Given the description of an element on the screen output the (x, y) to click on. 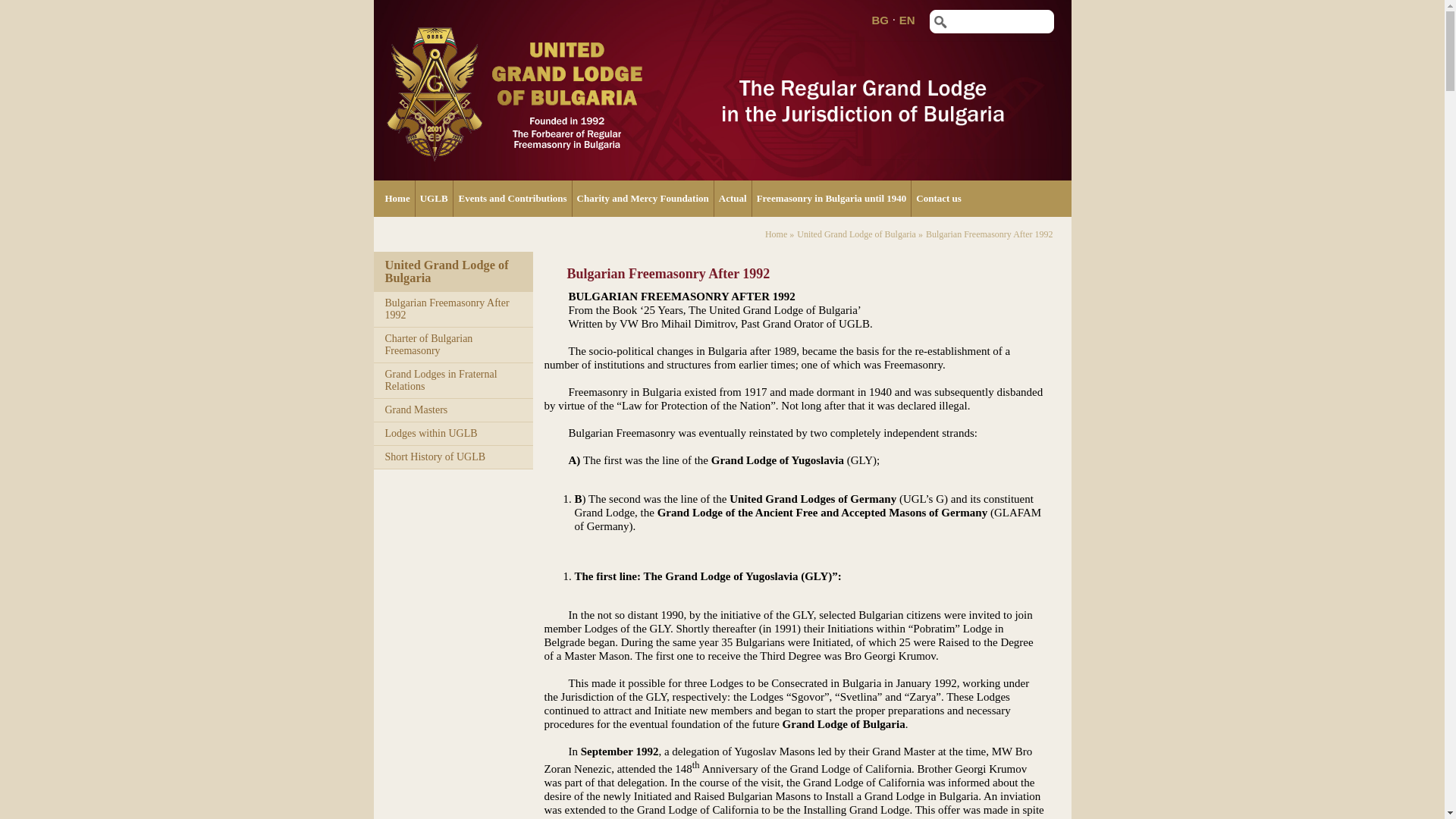
Grand Masters (416, 409)
Actual (733, 198)
Charity and Mercy Foundation (643, 198)
Home (776, 234)
United Grand Lodge of Bulgaria (855, 234)
Charter of Bulgarian Freemasonry (429, 344)
Contact us (938, 198)
BG (879, 19)
Lodges within UGLB (431, 432)
Grand Lodges in Fraternal Relations (441, 380)
